Given the description of an element on the screen output the (x, y) to click on. 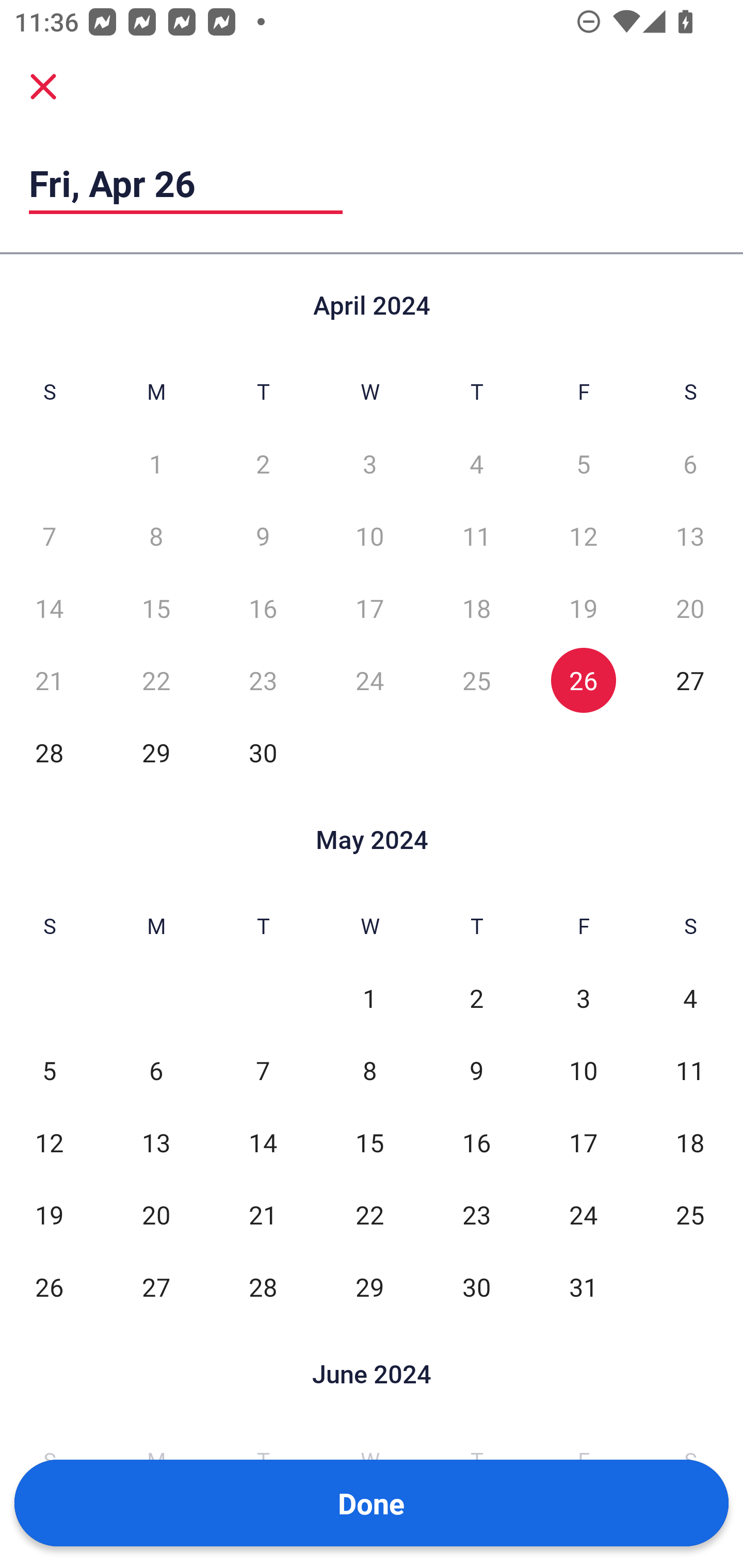
Cancel (43, 86)
Fri, Apr 26 (185, 182)
1 Mon, Apr 1, Not Selected (156, 464)
2 Tue, Apr 2, Not Selected (263, 464)
3 Wed, Apr 3, Not Selected (369, 464)
4 Thu, Apr 4, Not Selected (476, 464)
5 Fri, Apr 5, Not Selected (583, 464)
6 Sat, Apr 6, Not Selected (690, 464)
7 Sun, Apr 7, Not Selected (49, 536)
8 Mon, Apr 8, Not Selected (156, 536)
9 Tue, Apr 9, Not Selected (263, 536)
10 Wed, Apr 10, Not Selected (369, 536)
11 Thu, Apr 11, Not Selected (476, 536)
12 Fri, Apr 12, Not Selected (583, 536)
13 Sat, Apr 13, Not Selected (690, 536)
14 Sun, Apr 14, Not Selected (49, 608)
15 Mon, Apr 15, Not Selected (156, 608)
16 Tue, Apr 16, Not Selected (263, 608)
17 Wed, Apr 17, Not Selected (369, 608)
18 Thu, Apr 18, Not Selected (476, 608)
19 Fri, Apr 19, Not Selected (583, 608)
20 Sat, Apr 20, Not Selected (690, 608)
21 Sun, Apr 21, Not Selected (49, 680)
22 Mon, Apr 22, Not Selected (156, 680)
23 Tue, Apr 23, Not Selected (263, 680)
24 Wed, Apr 24, Not Selected (369, 680)
25 Thu, Apr 25, Not Selected (476, 680)
26 Fri, Apr 26, Selected (583, 680)
27 Sat, Apr 27, Not Selected (690, 680)
28 Sun, Apr 28, Not Selected (49, 752)
29 Mon, Apr 29, Not Selected (156, 752)
30 Tue, Apr 30, Not Selected (263, 752)
1 Wed, May 1, Not Selected (369, 997)
2 Thu, May 2, Not Selected (476, 997)
3 Fri, May 3, Not Selected (583, 997)
4 Sat, May 4, Not Selected (690, 997)
5 Sun, May 5, Not Selected (49, 1070)
6 Mon, May 6, Not Selected (156, 1070)
7 Tue, May 7, Not Selected (263, 1070)
8 Wed, May 8, Not Selected (369, 1070)
9 Thu, May 9, Not Selected (476, 1070)
10 Fri, May 10, Not Selected (583, 1070)
11 Sat, May 11, Not Selected (690, 1070)
12 Sun, May 12, Not Selected (49, 1143)
13 Mon, May 13, Not Selected (156, 1143)
14 Tue, May 14, Not Selected (263, 1143)
15 Wed, May 15, Not Selected (369, 1143)
16 Thu, May 16, Not Selected (476, 1143)
17 Fri, May 17, Not Selected (583, 1143)
18 Sat, May 18, Not Selected (690, 1143)
